Given the description of an element on the screen output the (x, y) to click on. 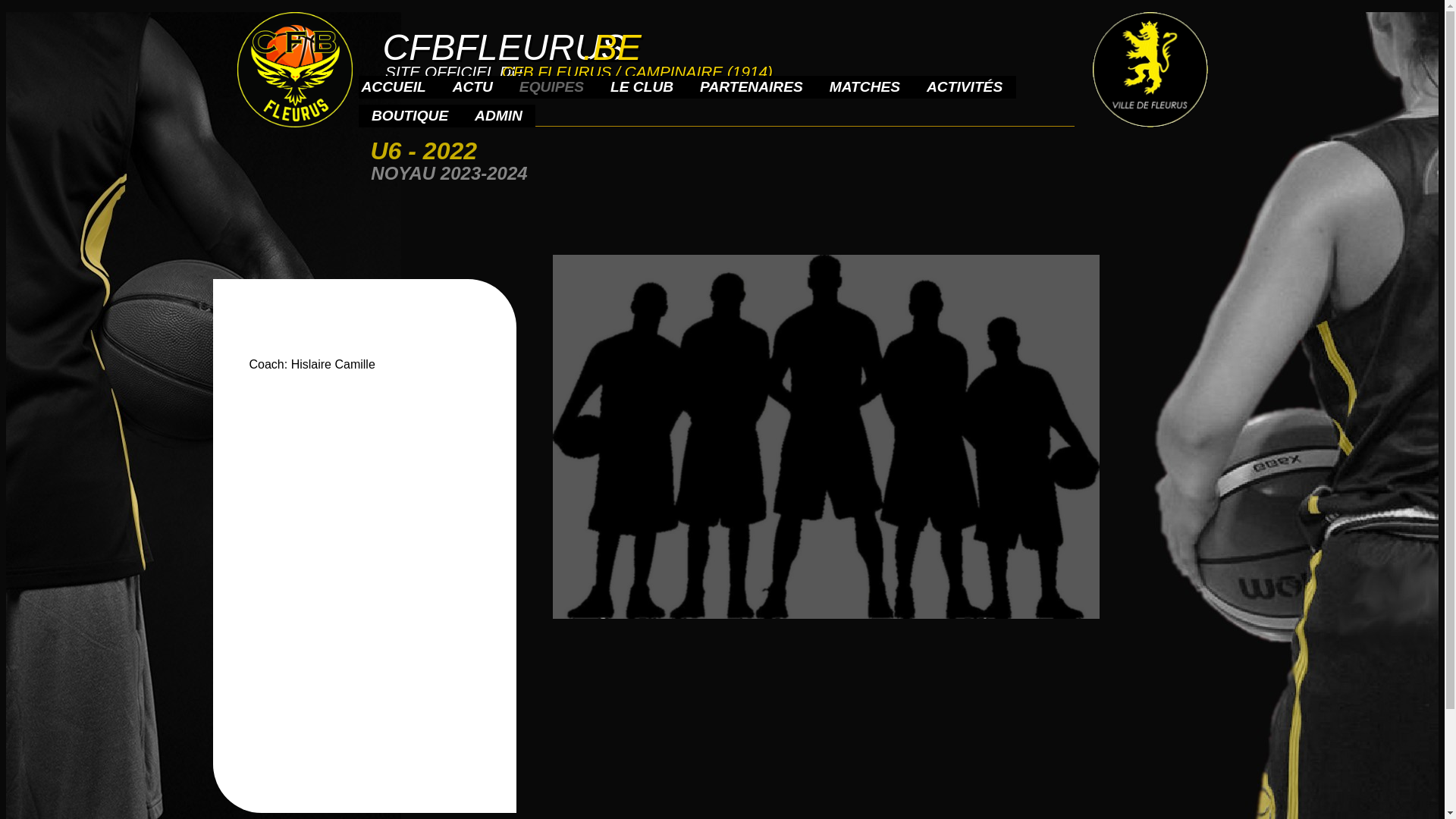
MATCHES Element type: text (864, 86)
BOUTIQUE Element type: text (409, 115)
PARTENAIRES Element type: text (751, 86)
EQUIPES Element type: text (551, 86)
LE CLUB Element type: text (641, 86)
ACTU Element type: text (472, 86)
ACCUEIL Element type: text (392, 86)
ADMIN Element type: text (498, 115)
